Given the description of an element on the screen output the (x, y) to click on. 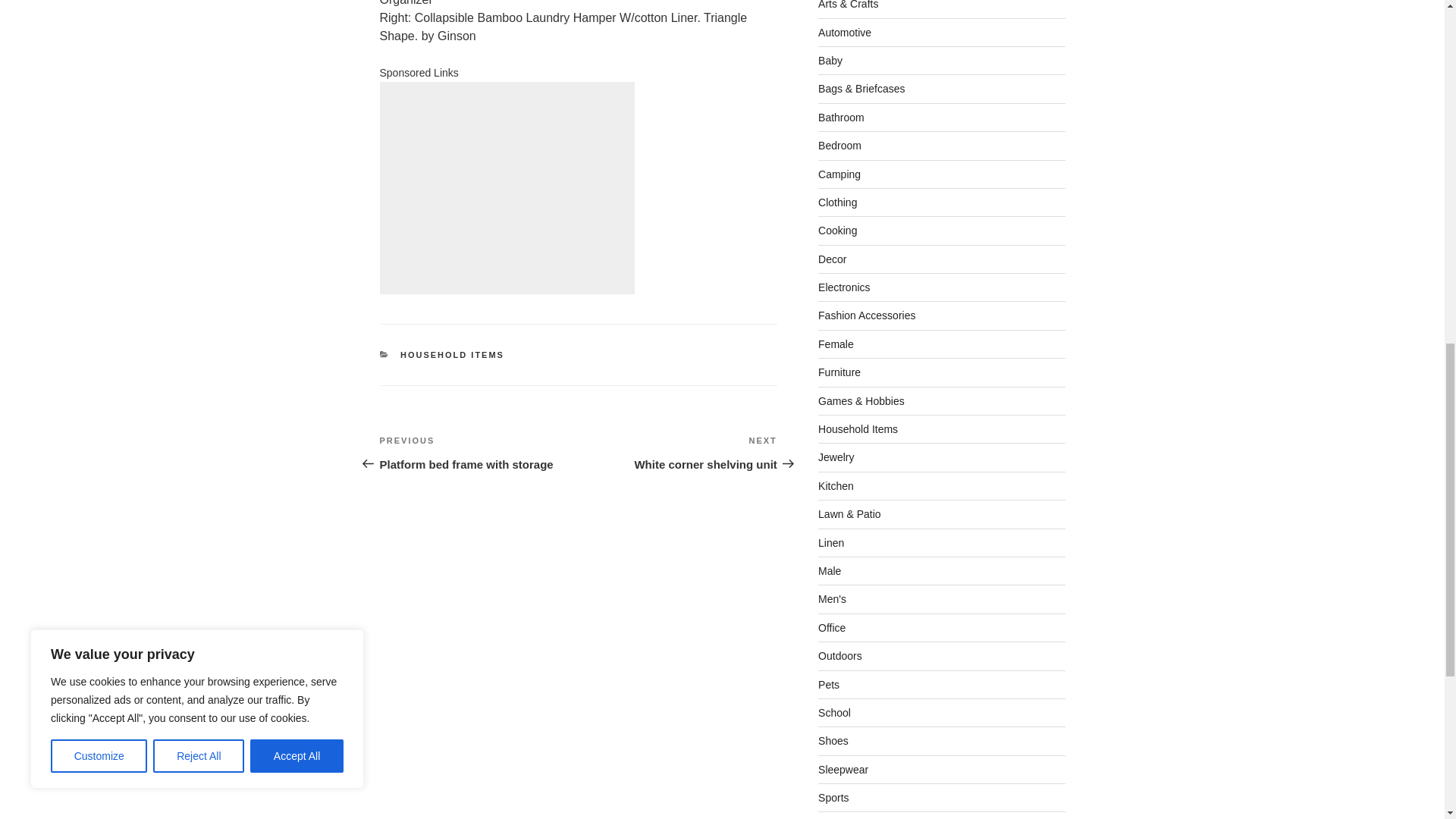
Camping (839, 174)
Baby (830, 60)
Decor (831, 259)
Clothing (837, 202)
Female (835, 344)
Bathroom (478, 452)
Cooking (677, 452)
Electronics (841, 117)
